Given the description of an element on the screen output the (x, y) to click on. 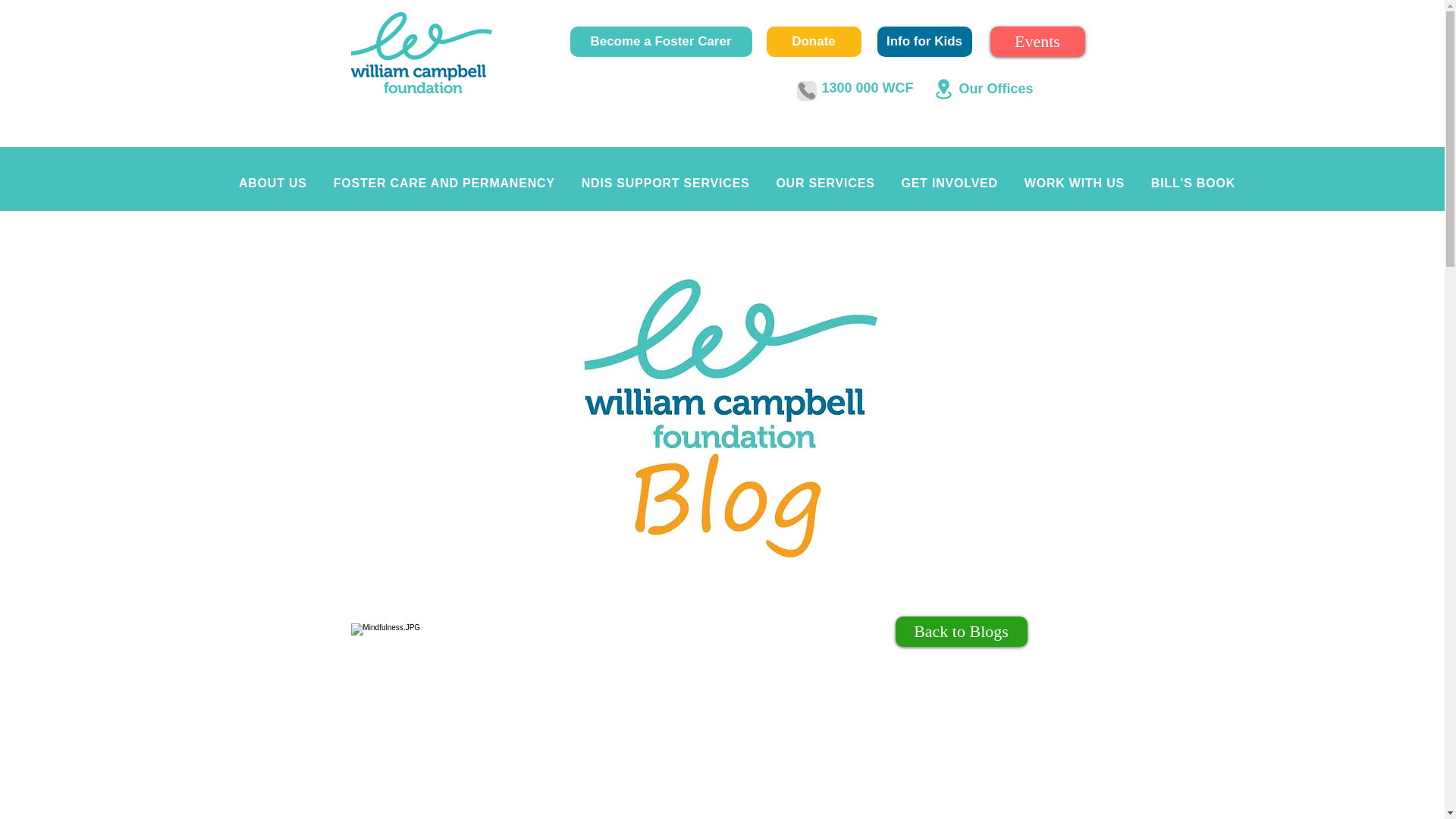
OUR SERVICES (825, 183)
Become a Foster Carer (661, 41)
ABOUT US (272, 183)
FOSTER CARE AND PERMANENCY (443, 183)
Info for Kids (923, 41)
NDIS SUPPORT SERVICES (665, 183)
1300 000 WCF (868, 87)
Our Offices (995, 88)
GET INVOLVED (949, 183)
Donate (812, 41)
Events (1037, 41)
